Given the description of an element on the screen output the (x, y) to click on. 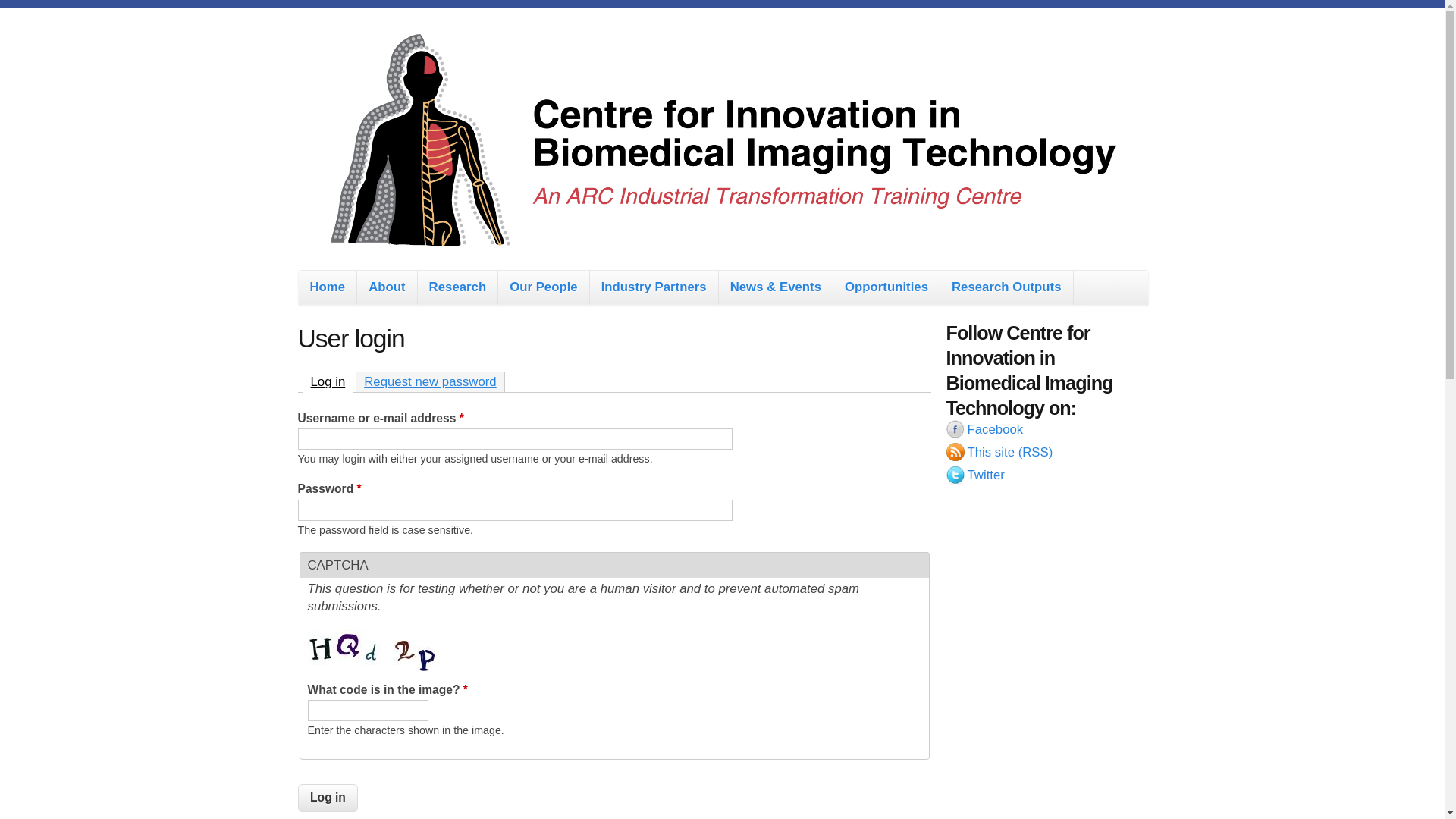
Our People Element type: text (543, 287)
This site (RSS) Element type: text (1046, 453)
Log in
(active tab) Element type: text (327, 381)
Research Outputs Element type: text (1006, 287)
About Element type: text (386, 287)
Industry Partners Element type: text (653, 287)
Facebook Element type: text (1046, 431)
Request new password Element type: text (429, 381)
Skip to main content Element type: text (646, 7)
Log in Element type: text (327, 798)
Home Element type: text (327, 287)
News & Events Element type: text (775, 287)
Twitter Element type: text (1046, 476)
Opportunities Element type: text (886, 287)
Image CAPTCHA Element type: hover (375, 651)
Research Element type: text (457, 287)
